Given the description of an element on the screen output the (x, y) to click on. 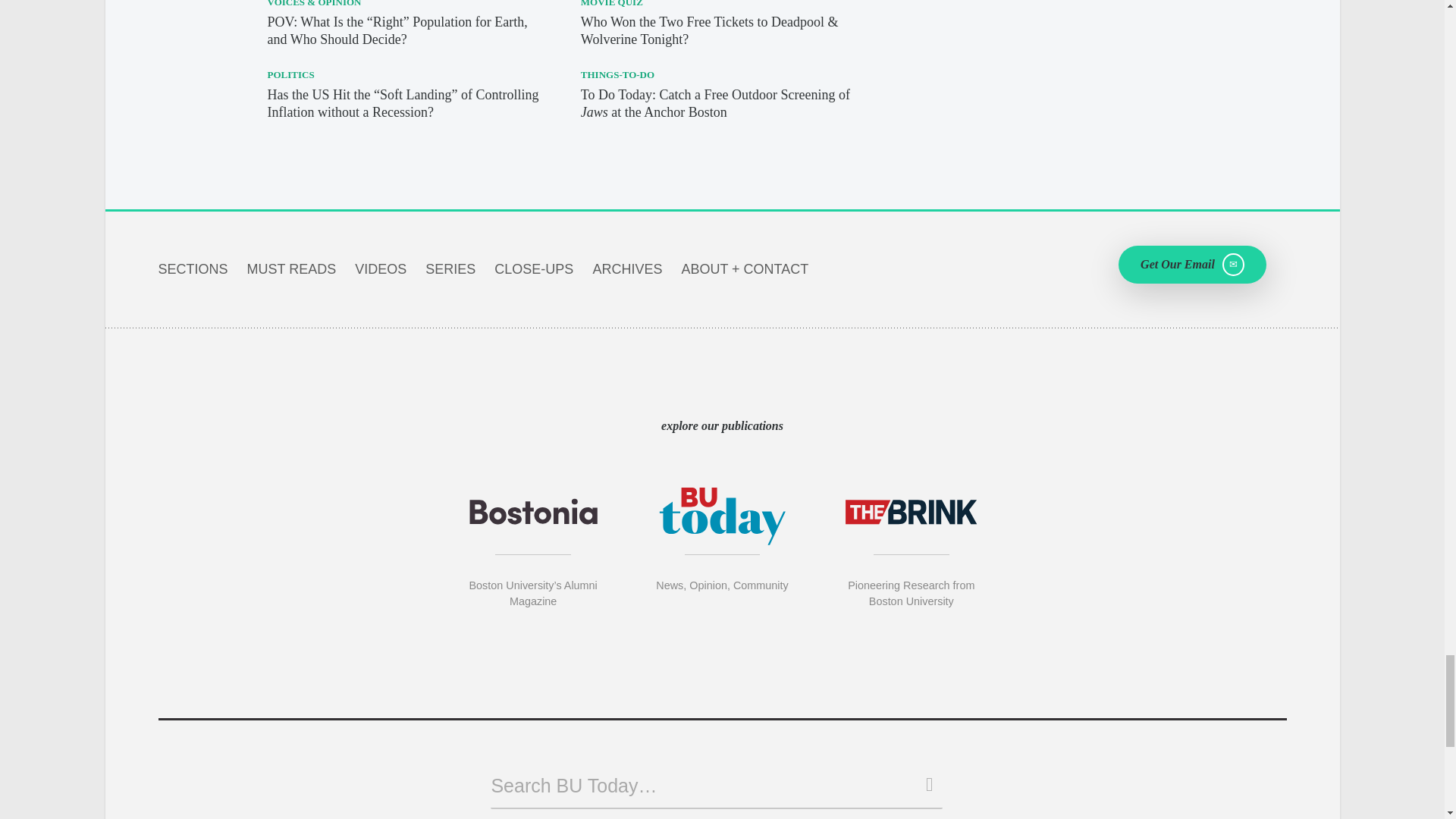
Navigate to: Close-ups (533, 269)
Navigate to: Sections (191, 269)
Navigate to: Videos (380, 269)
Navigate to: Archives (627, 269)
Navigate to: Must Reads (291, 269)
